Given the description of an element on the screen output the (x, y) to click on. 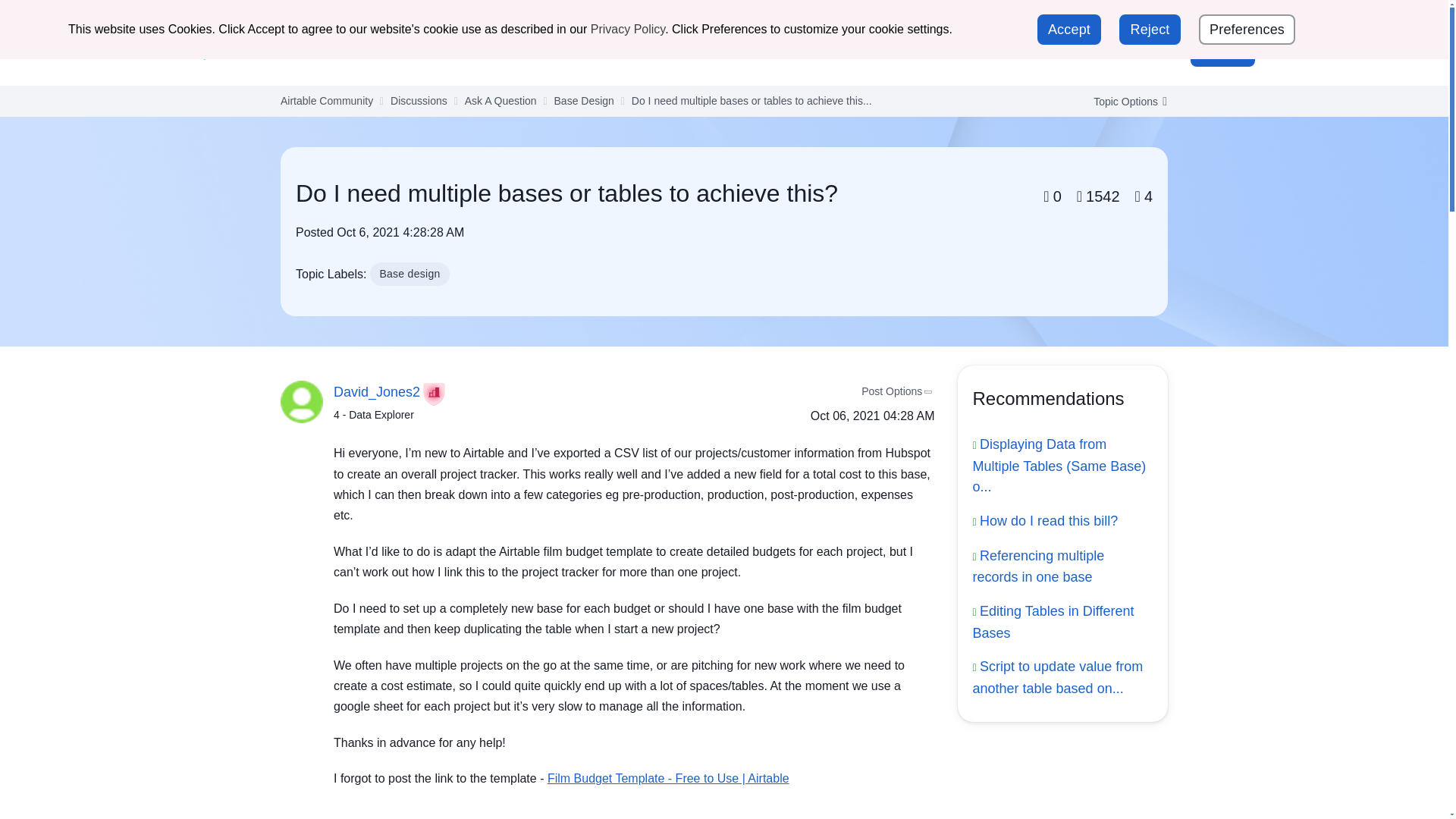
Groups (597, 50)
Privacy Policy (628, 29)
Resources (734, 50)
Support (1104, 17)
Product Ideas (826, 50)
Airtable Community (269, 51)
Sign up for Airtable (1204, 17)
Search (1114, 51)
Reject (1149, 29)
Events (661, 50)
Announcements (417, 50)
Discussions (519, 50)
Preferences (1246, 29)
Show option menu (1125, 101)
Accept (1068, 29)
